Given the description of an element on the screen output the (x, y) to click on. 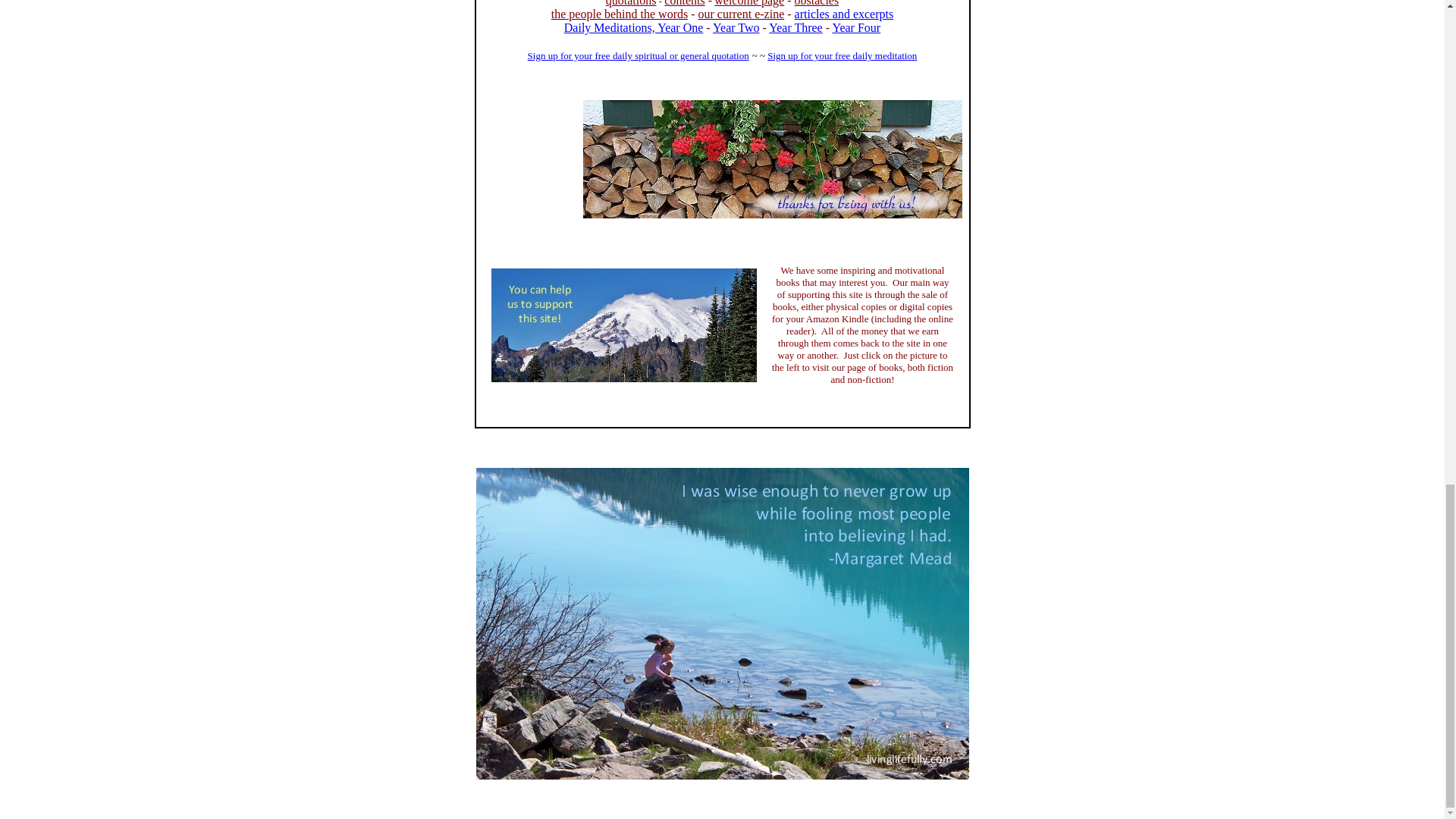
Sign up for your free daily meditation (842, 55)
welcome page (749, 3)
articles and excerpts (843, 13)
Year Four (855, 27)
Year Two (735, 27)
quotations (630, 3)
obstacles (817, 3)
Daily Meditations, Year One (633, 27)
Sign up for your free daily spiritual or general quotation (638, 61)
our current e-zine (741, 13)
the people behind the words (619, 13)
contents (683, 3)
Year Three (795, 27)
